Given the description of an element on the screen output the (x, y) to click on. 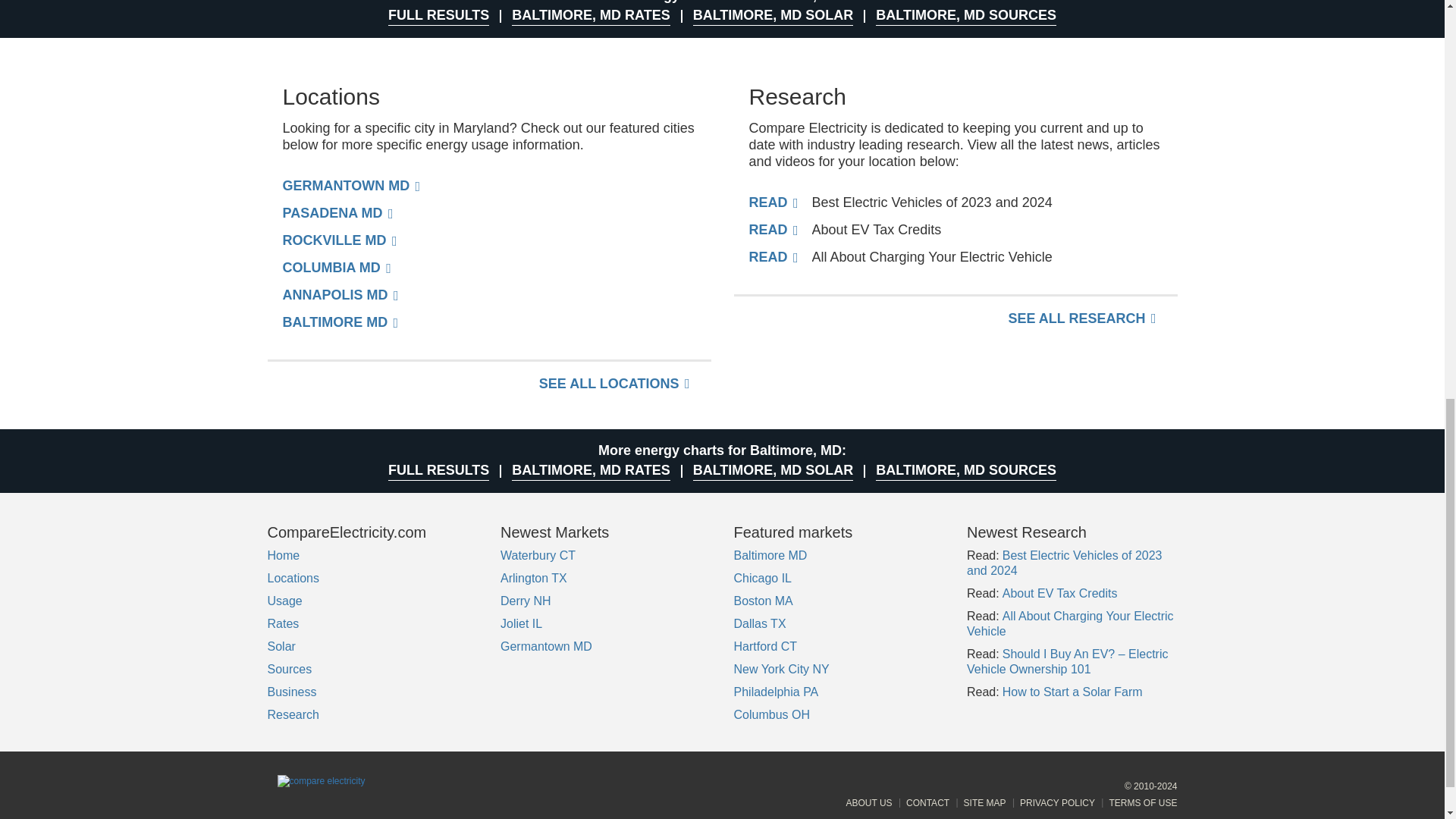
ROCKVILLE MD (339, 239)
GERMANTOWN MD (351, 185)
FULL RESULTS (438, 14)
BALTIMORE, MD SOURCES (966, 14)
ANNAPOLIS MD (339, 294)
BALTIMORE MD (339, 321)
PASADENA MD (337, 212)
BALTIMORE, MD RATES (590, 14)
SEE ALL LOCATIONS (614, 383)
BALTIMORE, MD SOLAR (773, 14)
